Given the description of an element on the screen output the (x, y) to click on. 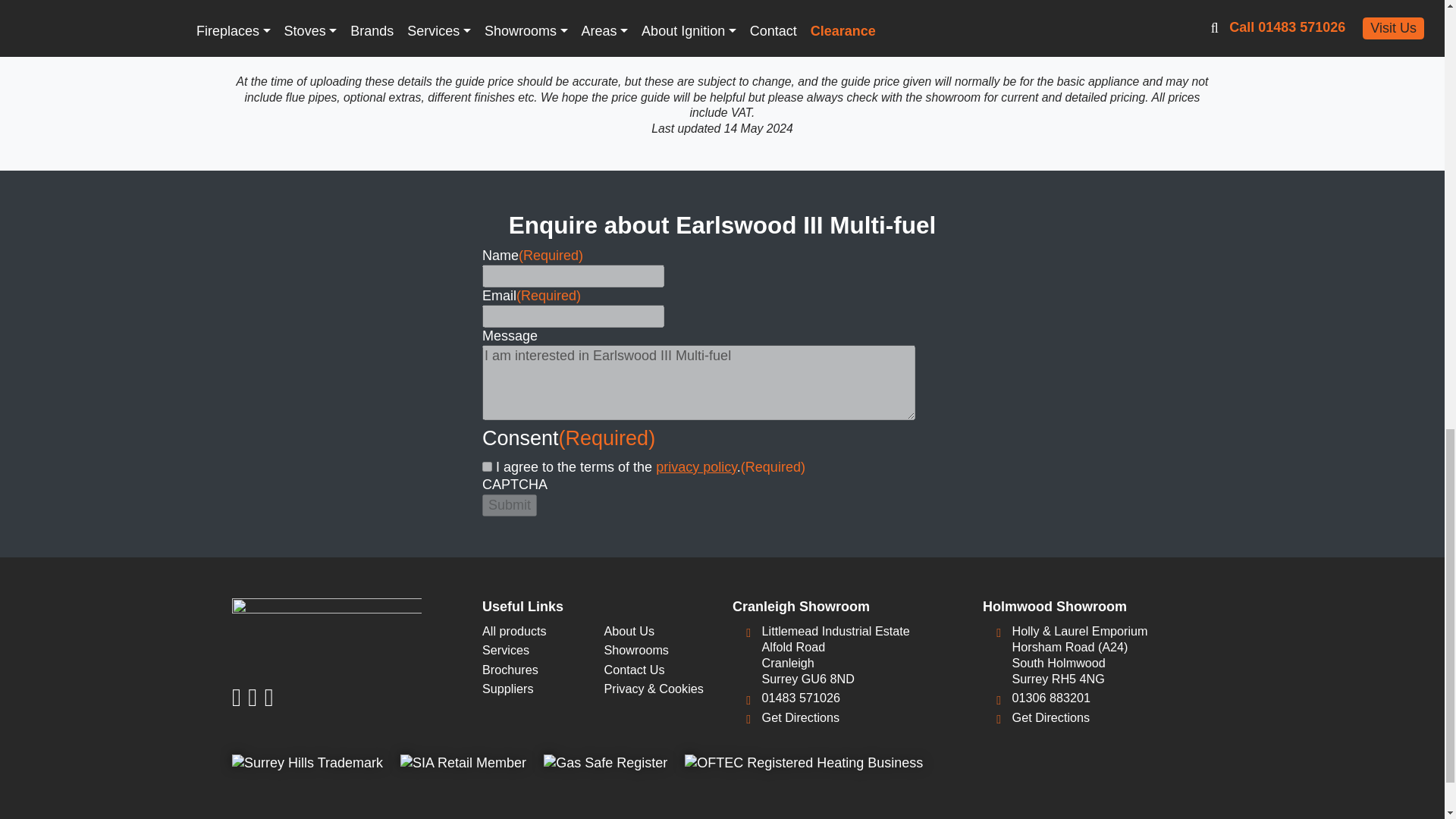
Submit (509, 505)
1 (486, 466)
